Given the description of an element on the screen output the (x, y) to click on. 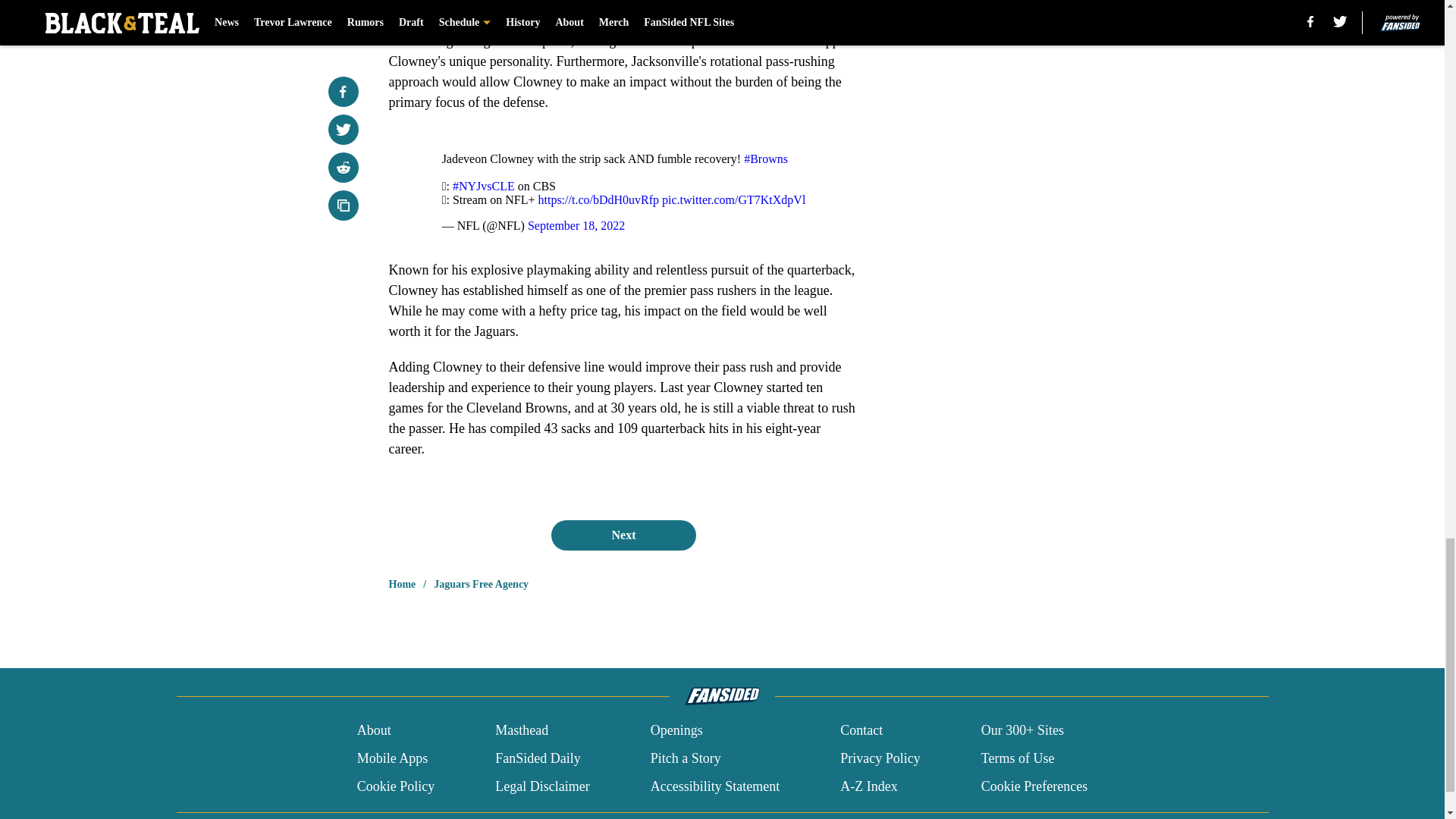
September 18, 2022 (575, 225)
Mobile Apps (392, 758)
Jaguars Free Agency (480, 584)
Masthead (521, 730)
Home (401, 584)
Next (622, 535)
Openings (676, 730)
Contact (861, 730)
About (373, 730)
